Given the description of an element on the screen output the (x, y) to click on. 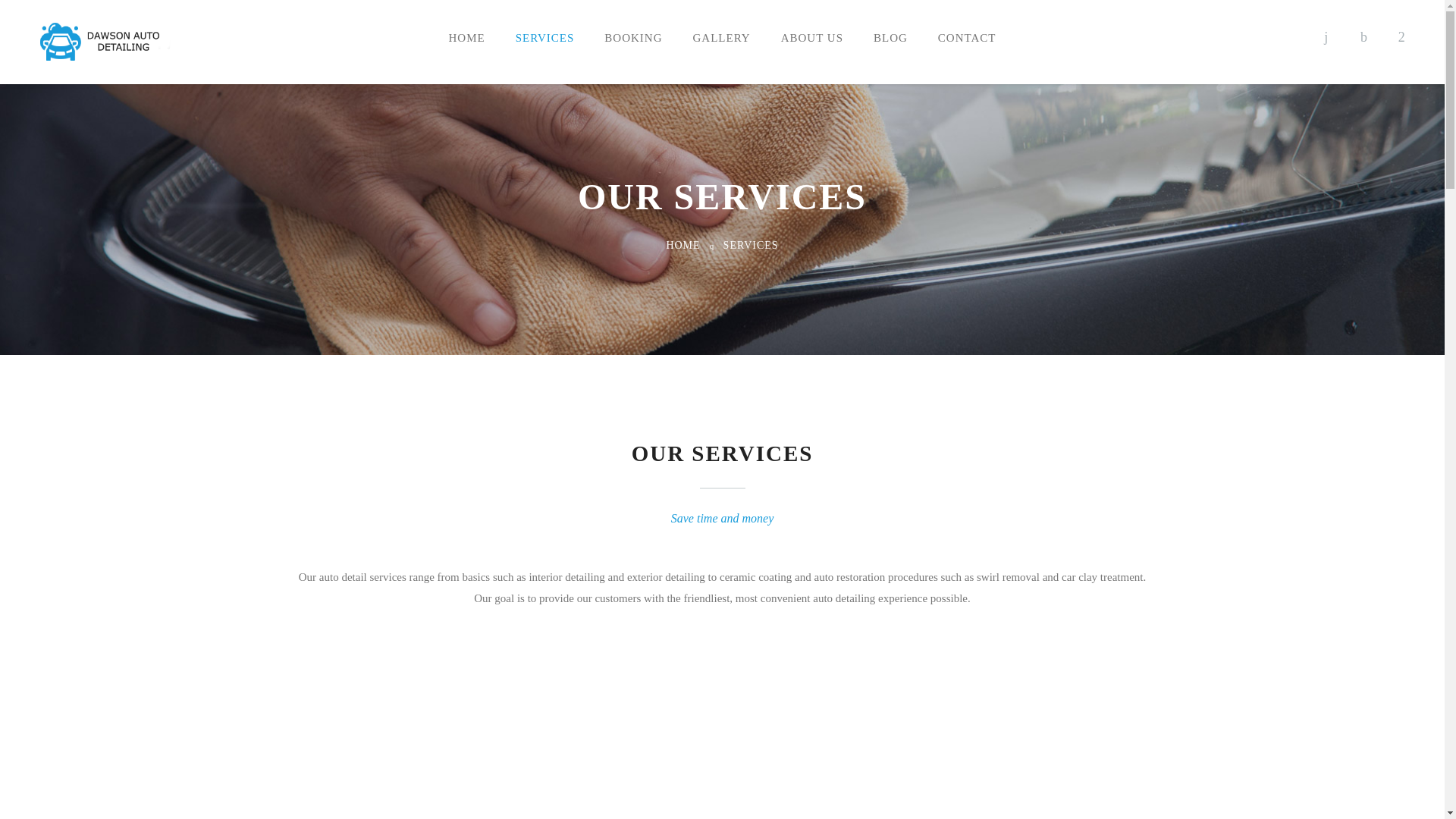
ABOUT US (812, 38)
HOME (682, 244)
SERVICES (544, 38)
BOOKING (633, 38)
SERVICES (750, 244)
GALLERY (721, 38)
CONTACT (967, 38)
